Given the description of an element on the screen output the (x, y) to click on. 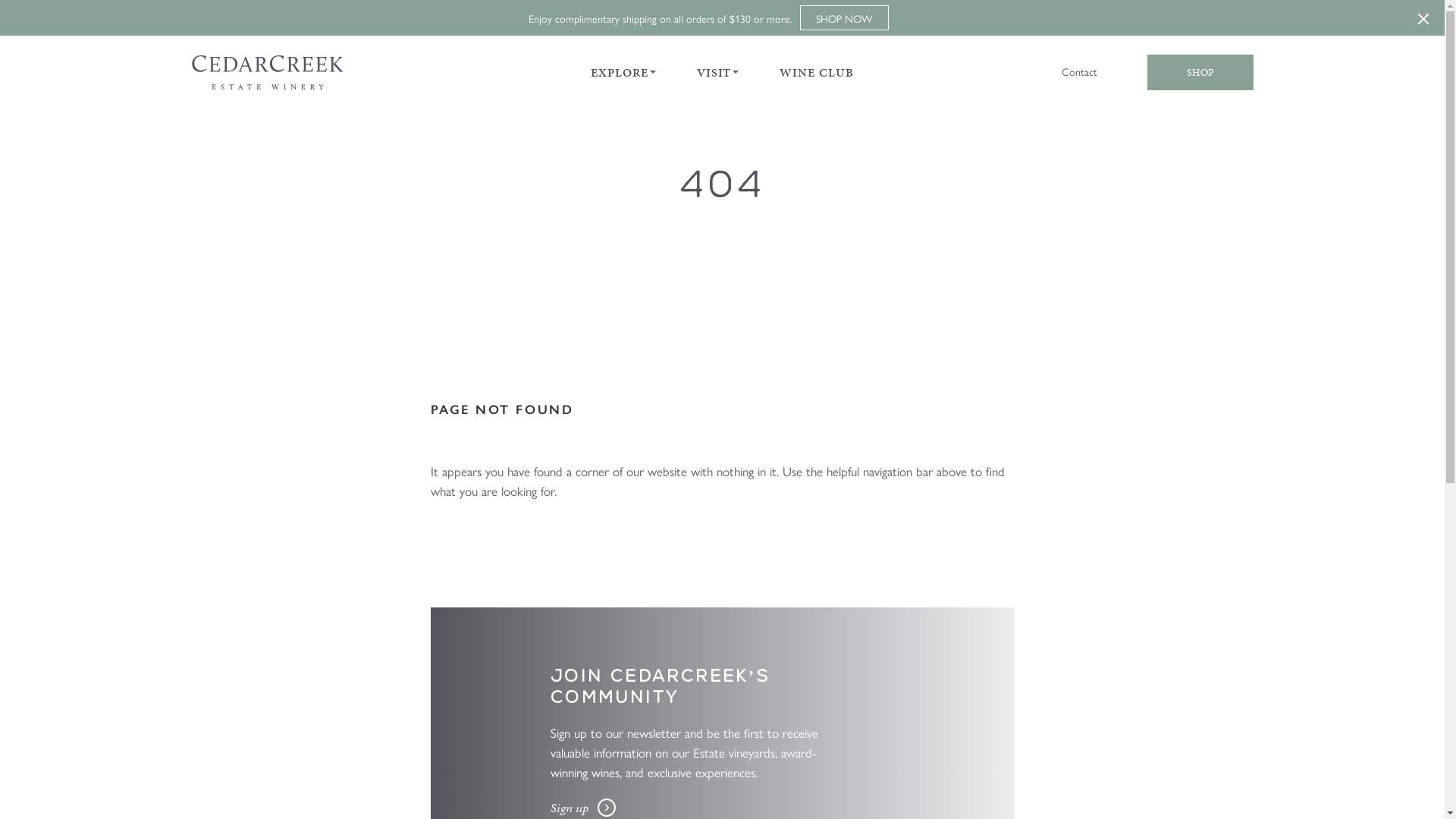
SHOP NOW Element type: text (844, 18)
SHOP Element type: text (1199, 72)
Contact Element type: text (1079, 70)
Close Element type: text (1423, 18)
VISIT Element type: text (713, 71)
EXPLORE Element type: text (618, 71)
Sign up Element type: text (582, 808)
WINE CLUB Element type: text (816, 71)
